Given the description of an element on the screen output the (x, y) to click on. 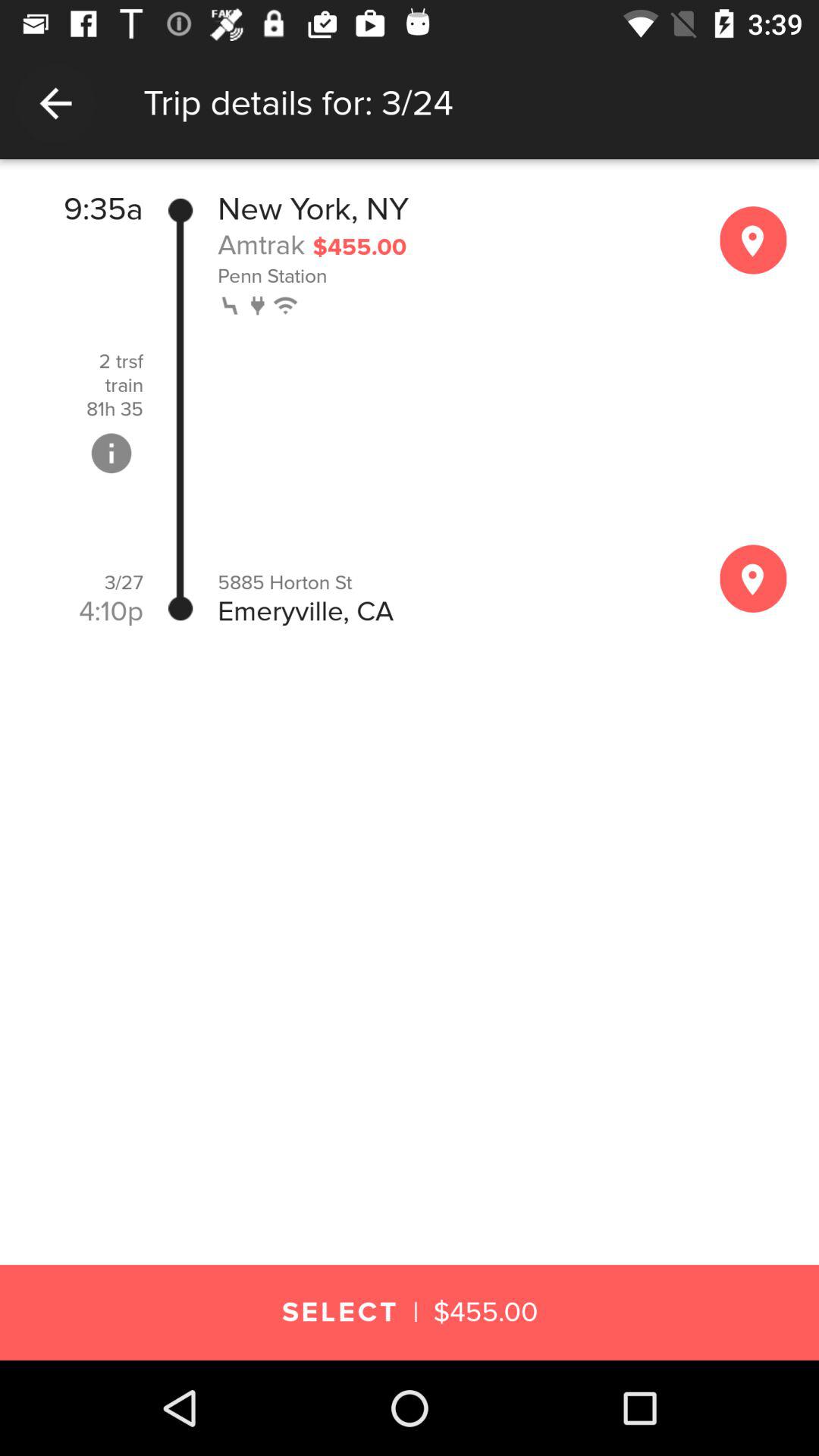
location icon (753, 240)
